Given the description of an element on the screen output the (x, y) to click on. 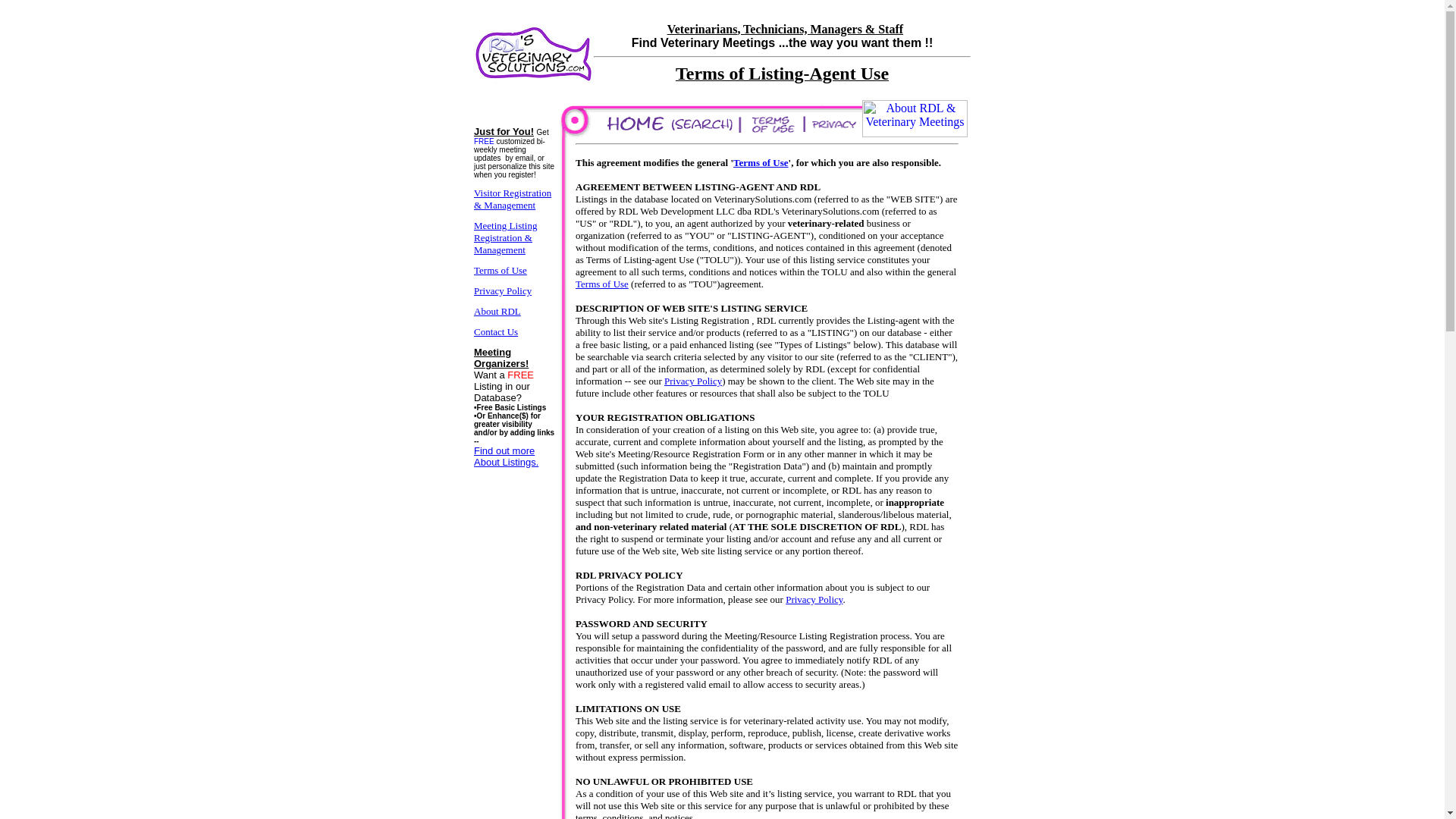
Find out more About Listings. (506, 460)
Privacy Policy (692, 380)
About RDL (497, 309)
Veterinarians (702, 29)
Terms of Use (760, 162)
Contact Us (496, 330)
Terms of Use (500, 269)
Privacy Policy (502, 289)
Privacy Policy (814, 599)
Terms of Use (601, 283)
